Given the description of an element on the screen output the (x, y) to click on. 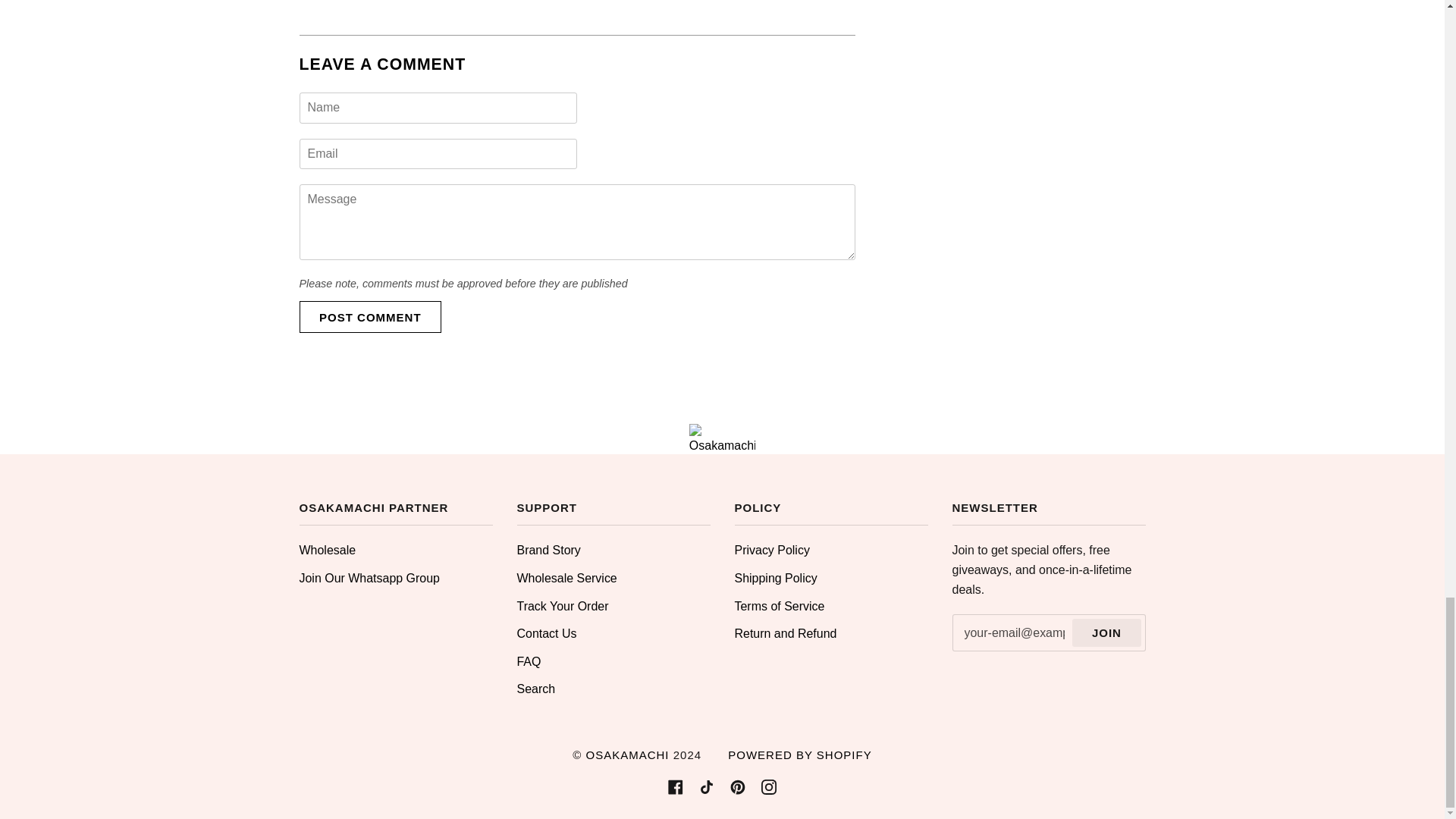
Pinterest (737, 786)
Instagram (768, 786)
Tiktok (706, 786)
Facebook (675, 786)
